Given the description of an element on the screen output the (x, y) to click on. 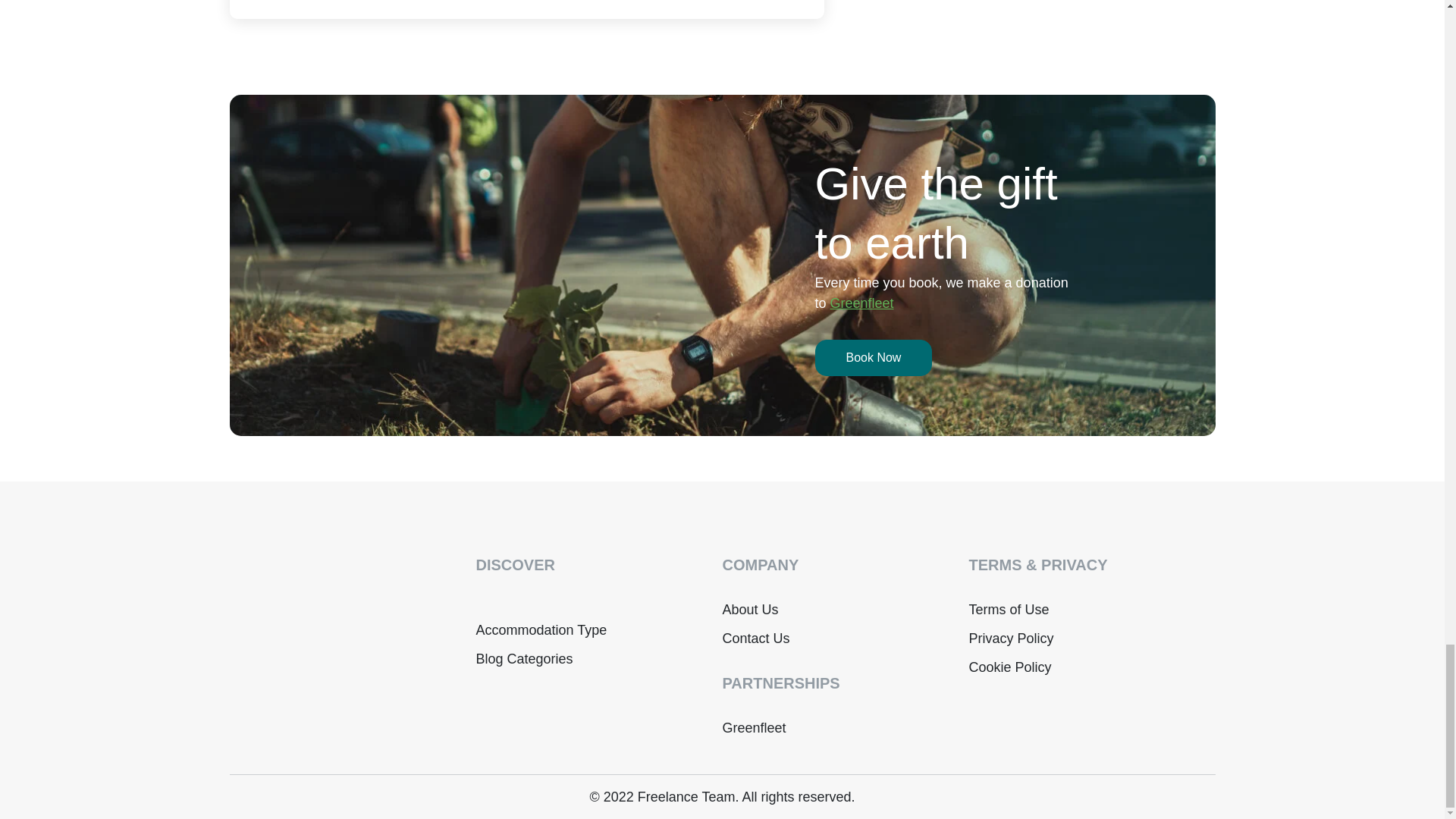
Book Now (872, 357)
Accommodation Type (541, 630)
Blog Categories (524, 658)
About Us (749, 609)
